Given the description of an element on the screen output the (x, y) to click on. 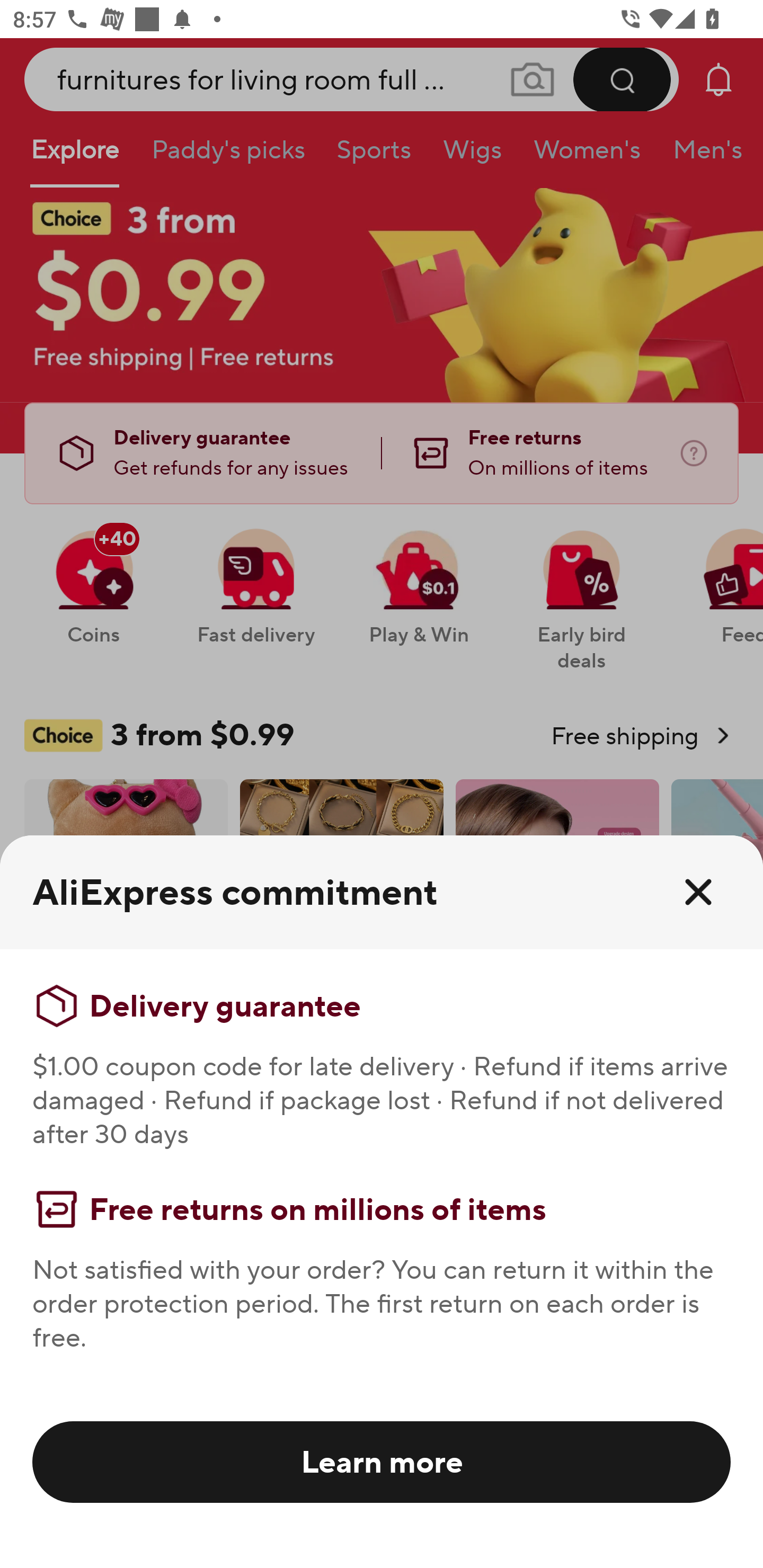
Learn more (381, 1461)
